Given the description of an element on the screen output the (x, y) to click on. 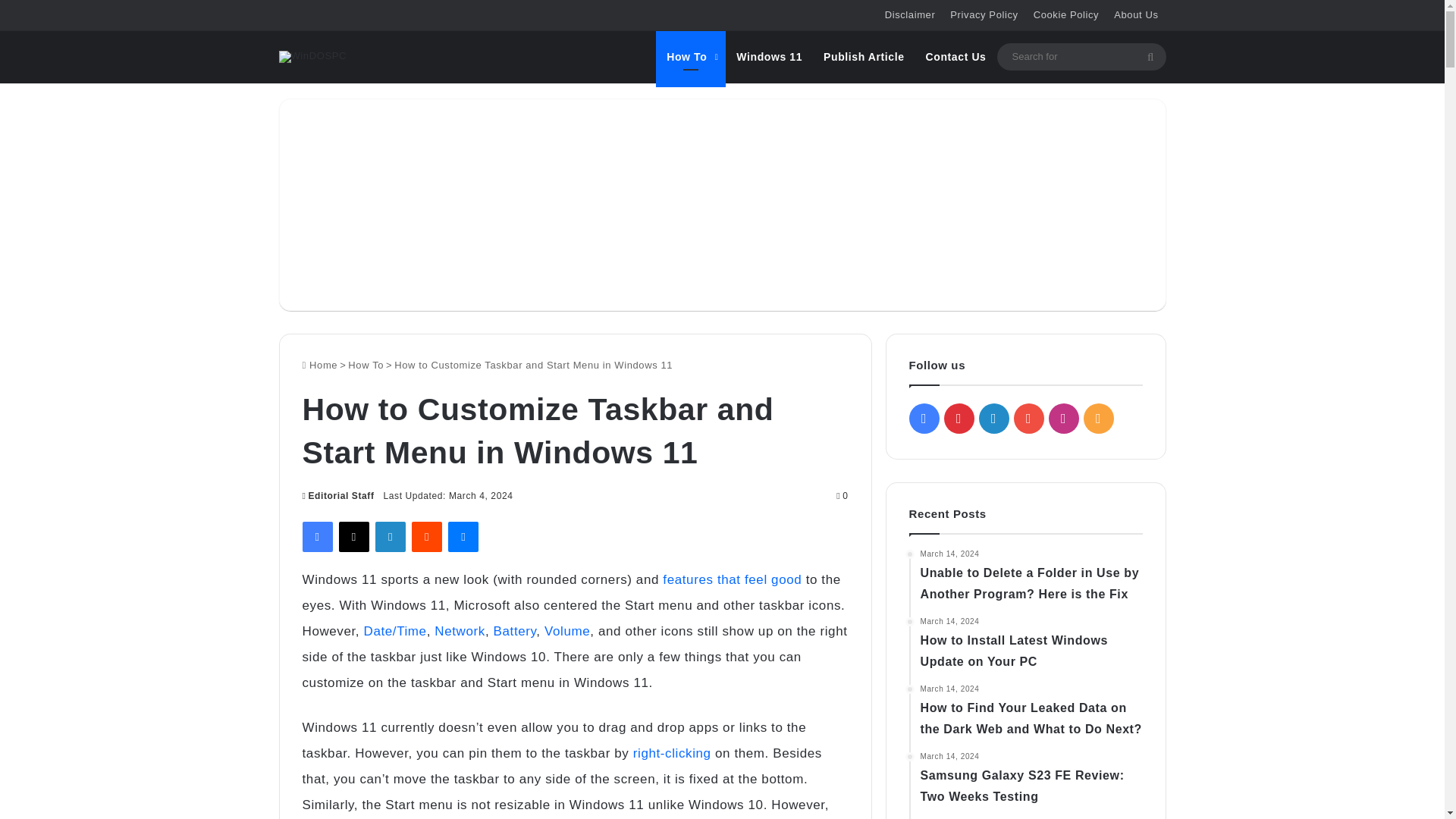
Editorial Staff (337, 495)
Home (319, 365)
Search for (1080, 56)
Facebook (316, 536)
Facebook (316, 536)
Battery (515, 631)
How To (690, 56)
features that feel good (732, 579)
Search for (1150, 56)
LinkedIn (390, 536)
